Given the description of an element on the screen output the (x, y) to click on. 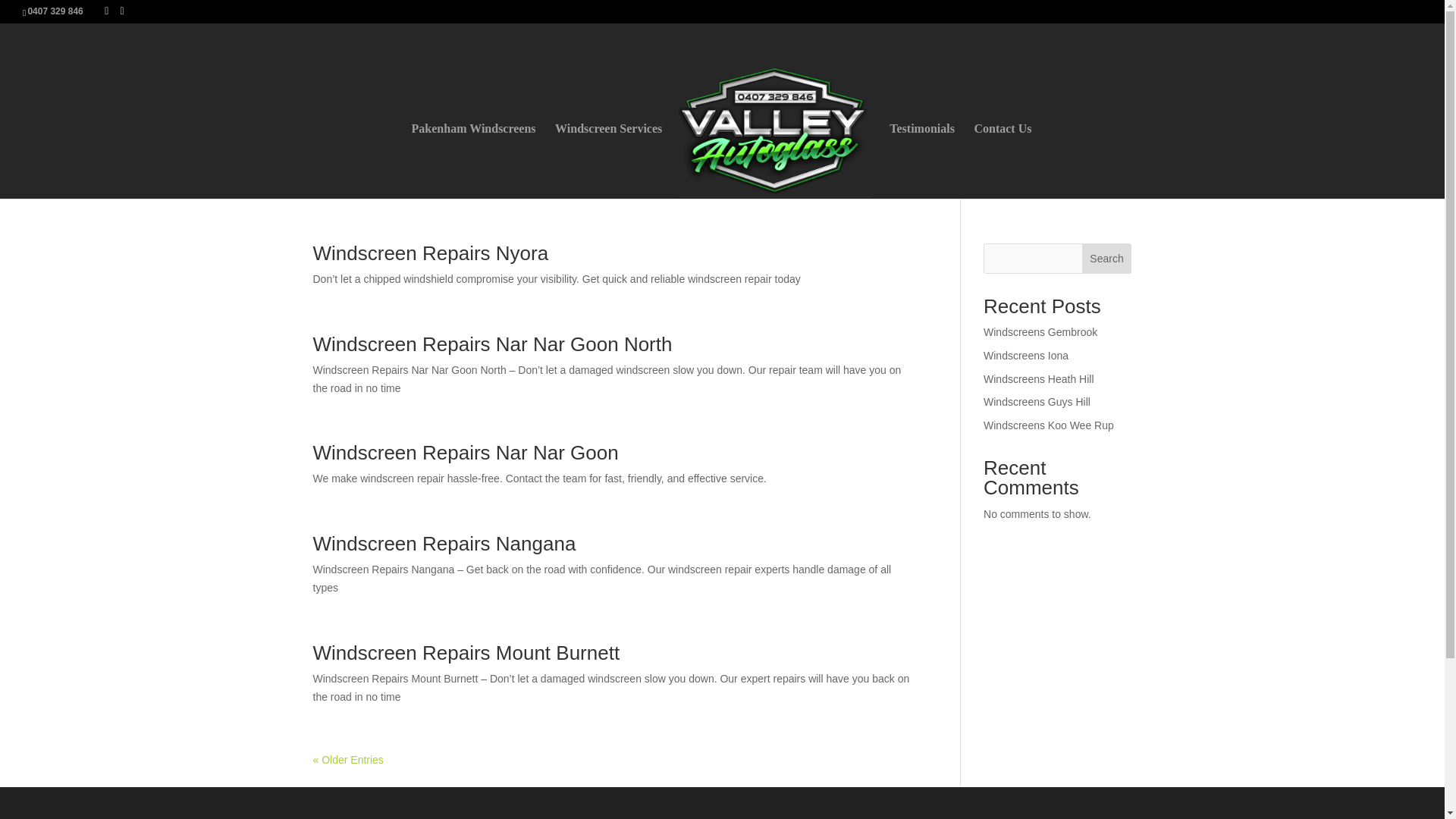
Windscreens Heath Hill (1039, 378)
Windscreen Repairs Nar Nar Goon North (492, 343)
Windscreens Gembrook (1040, 331)
Windscreens Koo Wee Rup (1048, 425)
Windscreen Repairs Nar Nar Goon (465, 452)
Contact Us (1002, 161)
Windscreen Repairs Nangana (444, 543)
Search (1106, 258)
Windscreen Repairs Mount Burnett (466, 652)
Pakenham Windscreens (473, 161)
Testimonials (922, 161)
Windscreens Iona (1026, 355)
Windscreen Repairs Nyora (430, 252)
Windscreens Guys Hill (1037, 401)
Windscreen Services (608, 161)
